Given the description of an element on the screen output the (x, y) to click on. 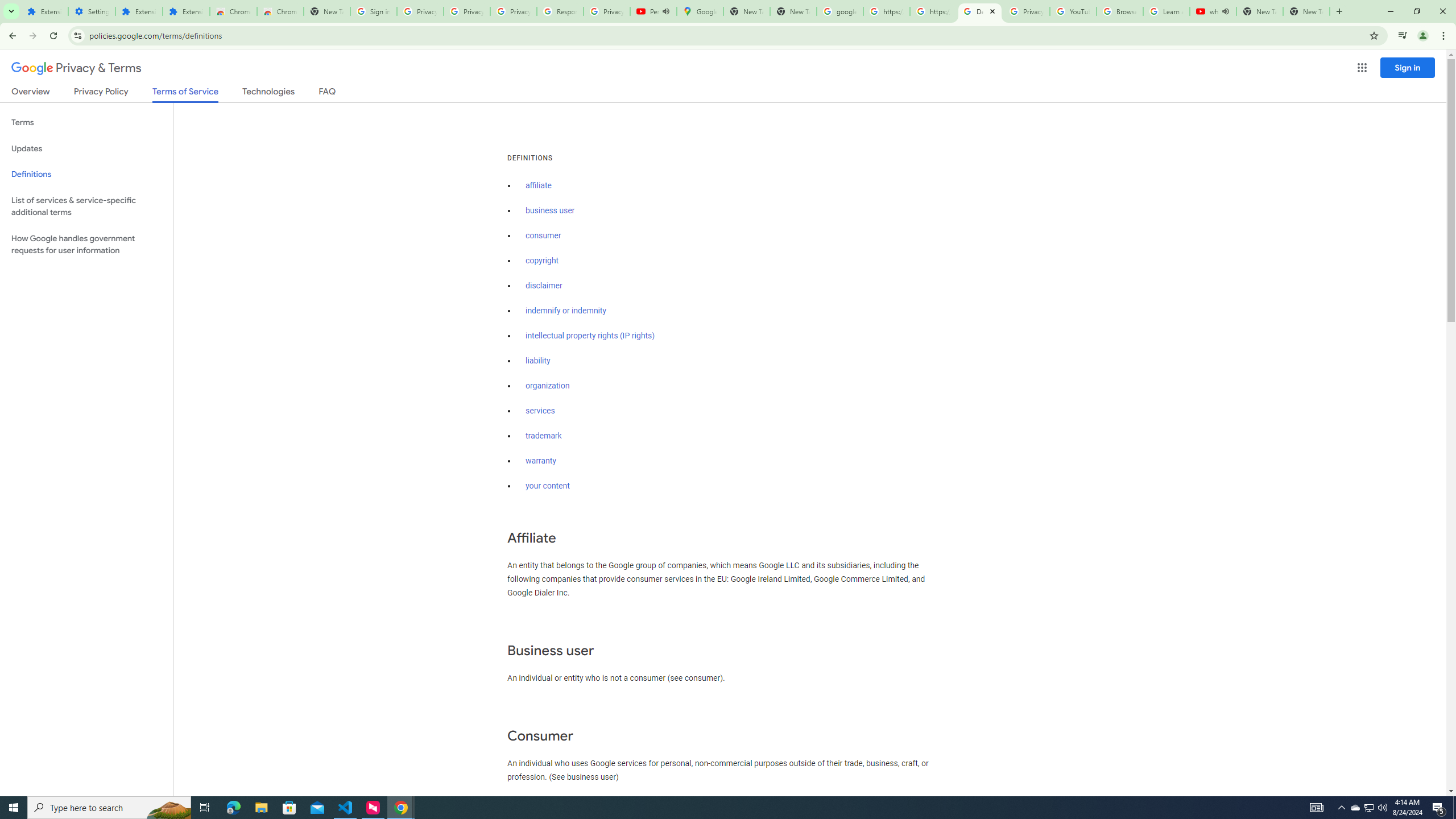
https://scholar.google.com/ (886, 11)
consumer (543, 235)
New Tab (326, 11)
